Given the description of an element on the screen output the (x, y) to click on. 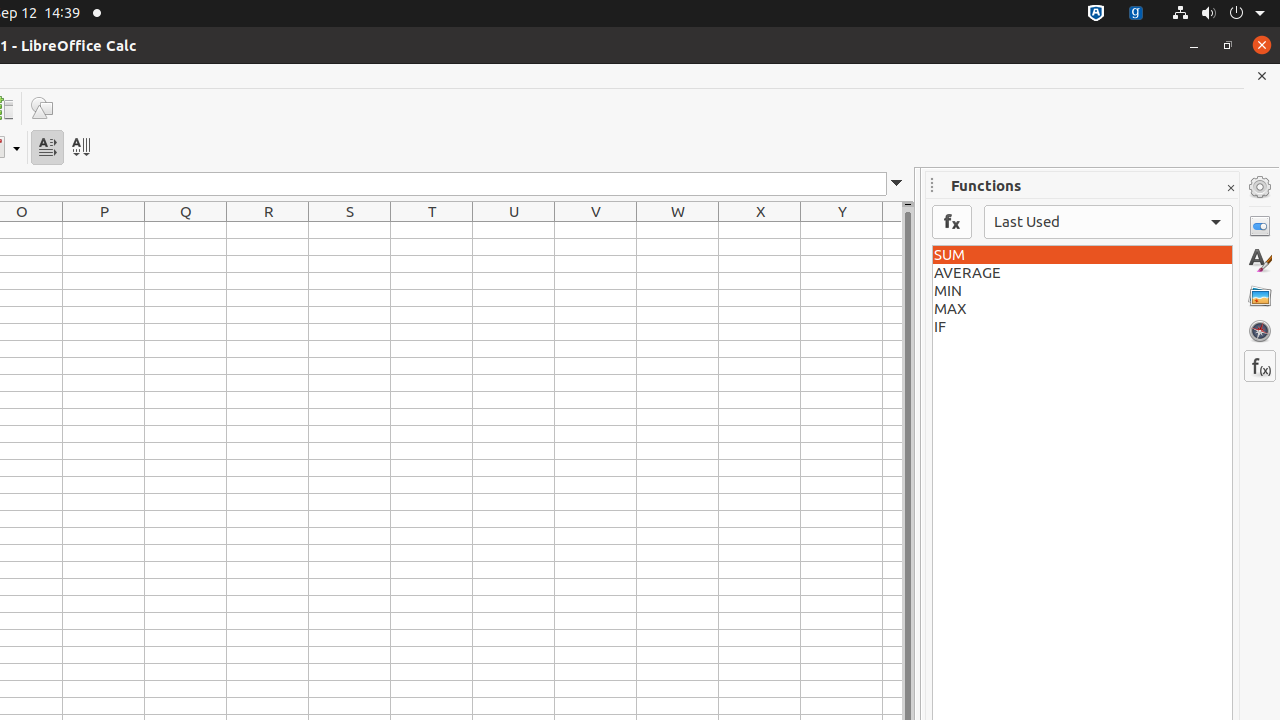
MIN Element type: list-item (1082, 291)
S1 Element type: table-cell (350, 230)
Z1 Element type: table-cell (892, 230)
T1 Element type: table-cell (432, 230)
Properties Element type: radio-button (1260, 226)
